Given the description of an element on the screen output the (x, y) to click on. 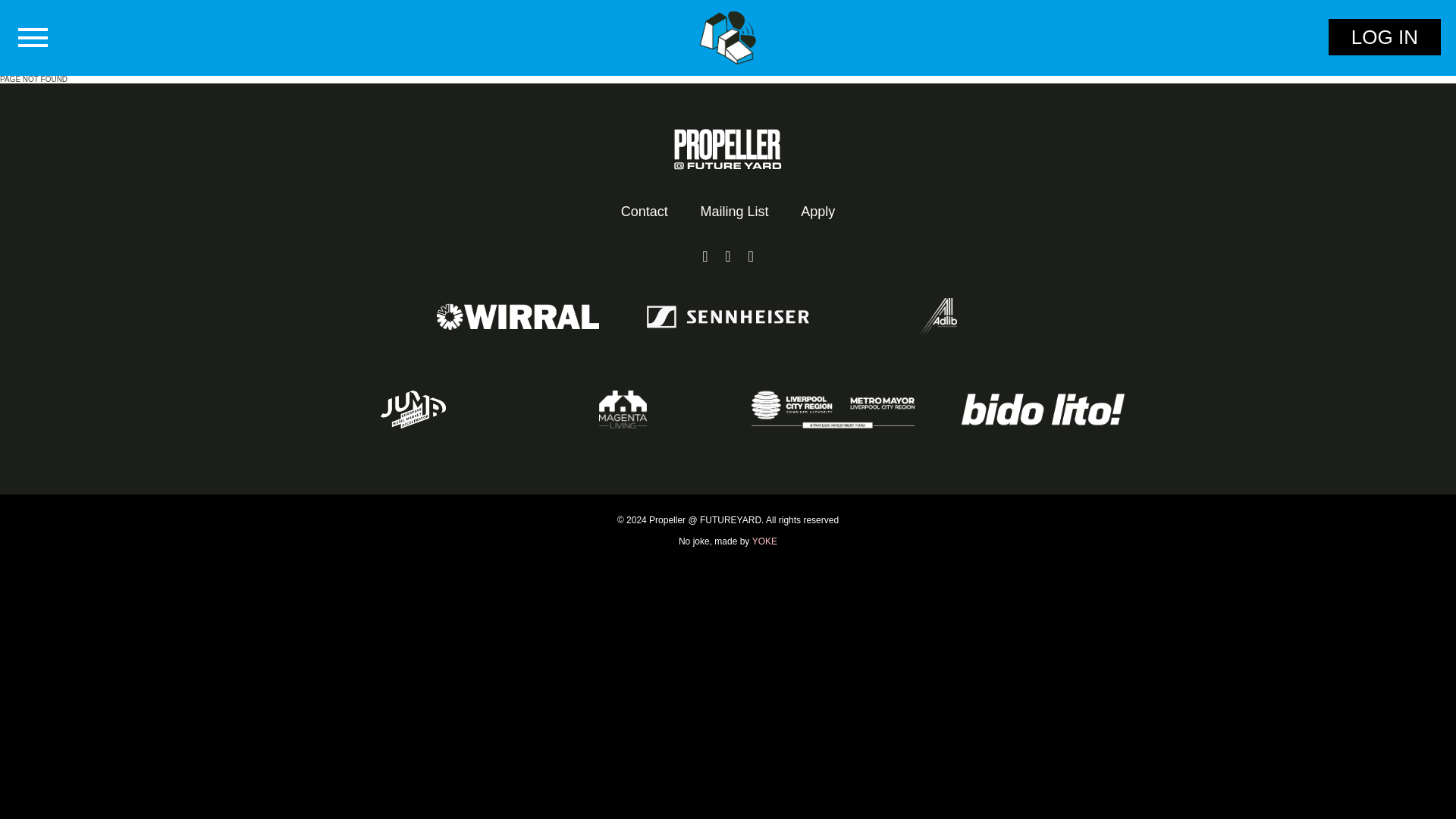
YOKE (764, 541)
Contact (651, 211)
Apply (810, 211)
Mailing List (733, 211)
website design Liverpool (764, 541)
LOG IN (1384, 36)
